Given the description of an element on the screen output the (x, y) to click on. 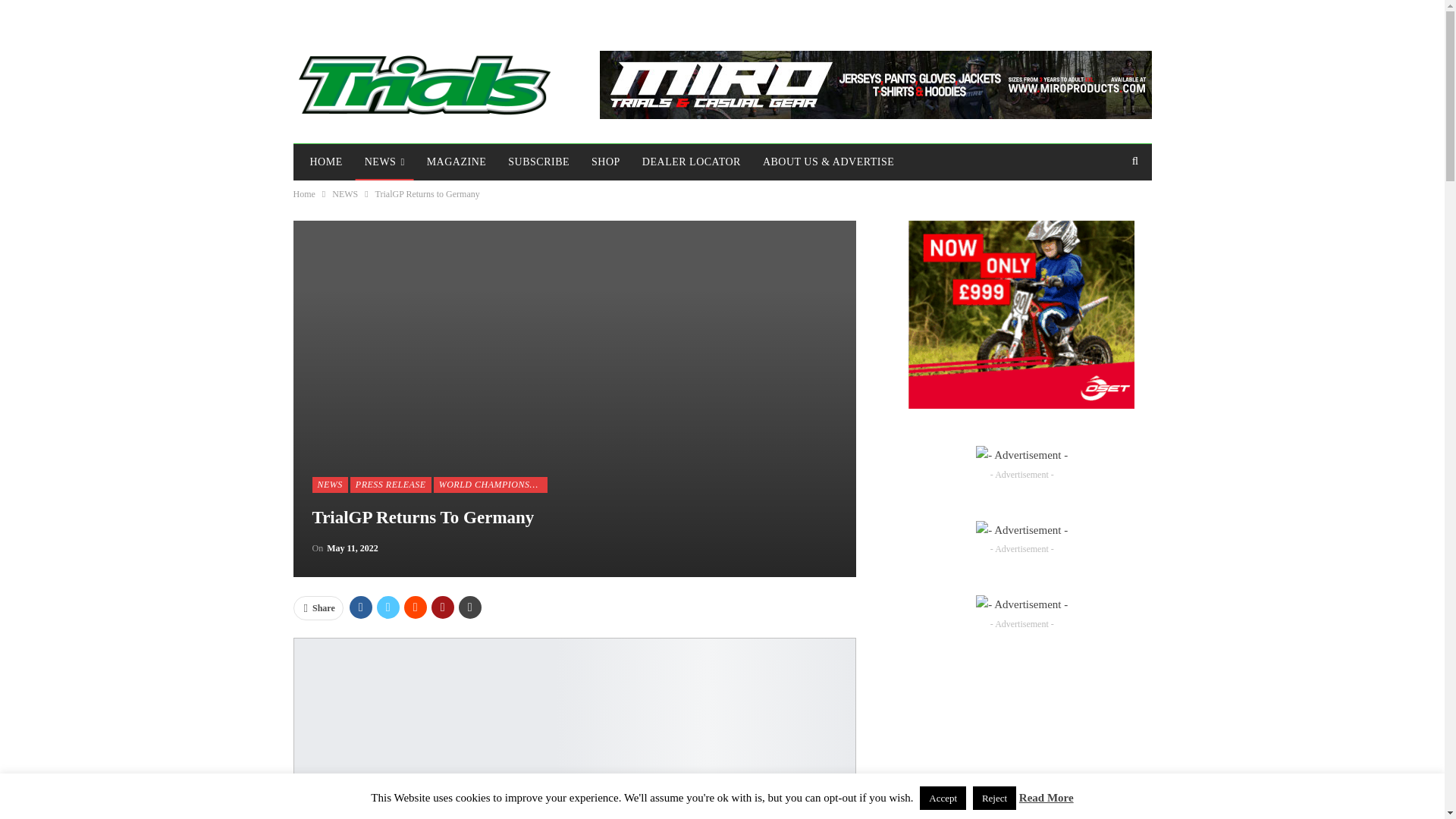
SHOP (605, 162)
NEWS (330, 484)
SUBSCRIBE (538, 162)
NEWS (384, 162)
HOME (324, 162)
PRESS RELEASE (390, 484)
NEWS (344, 193)
WORLD CHAMPIONSHIP (490, 484)
Home (303, 193)
DEALER LOCATOR (691, 162)
